Given the description of an element on the screen output the (x, y) to click on. 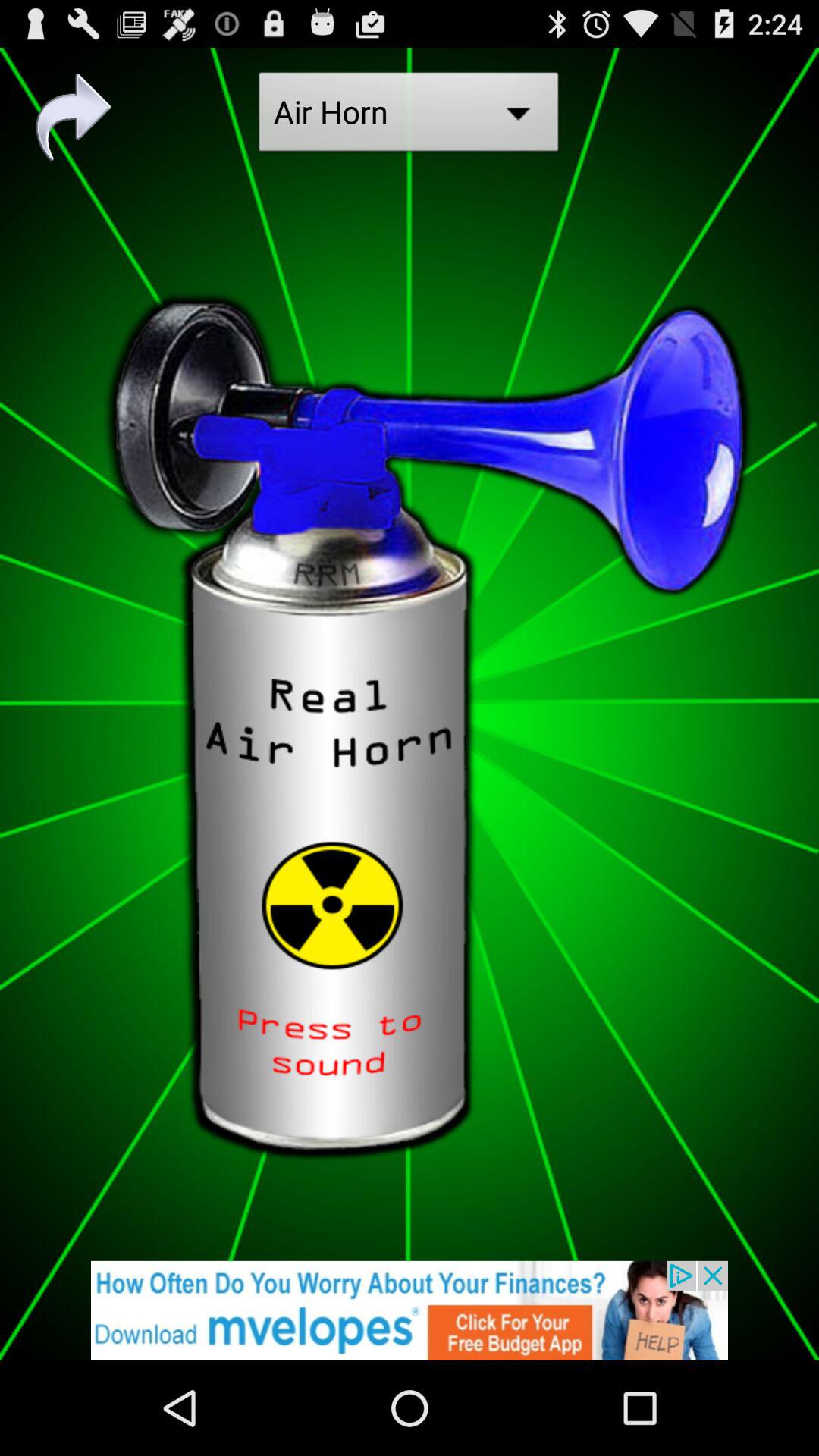
go forward (73, 117)
